Given the description of an element on the screen output the (x, y) to click on. 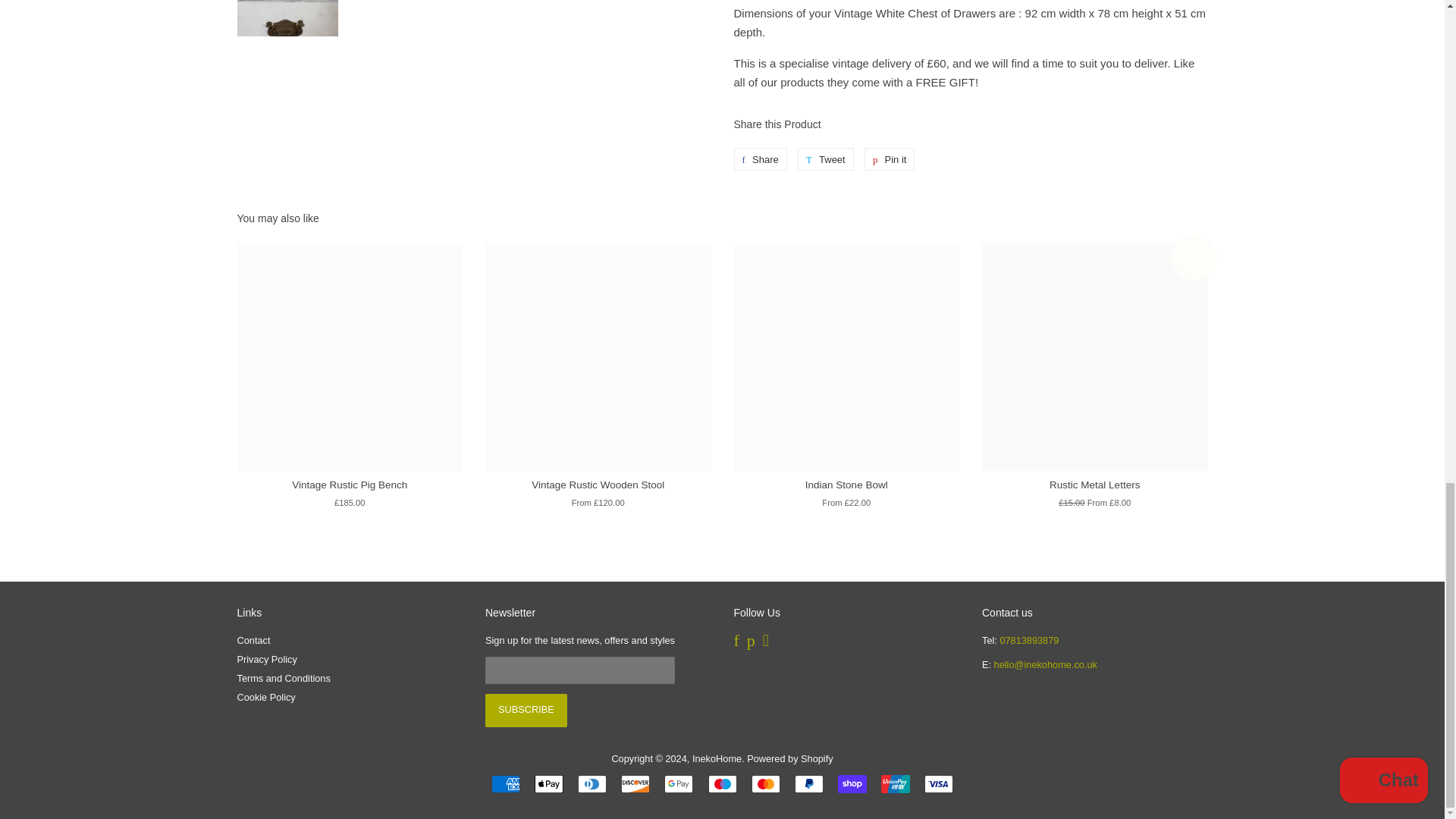
Diners Club (592, 782)
Discover (635, 782)
Google Pay (678, 782)
Pin on Pinterest (889, 159)
Mastercard (765, 782)
Tweet on Twitter (825, 159)
PayPal (809, 782)
Union Pay (895, 782)
Shop Pay (852, 782)
Subscribe (525, 710)
